Given the description of an element on the screen output the (x, y) to click on. 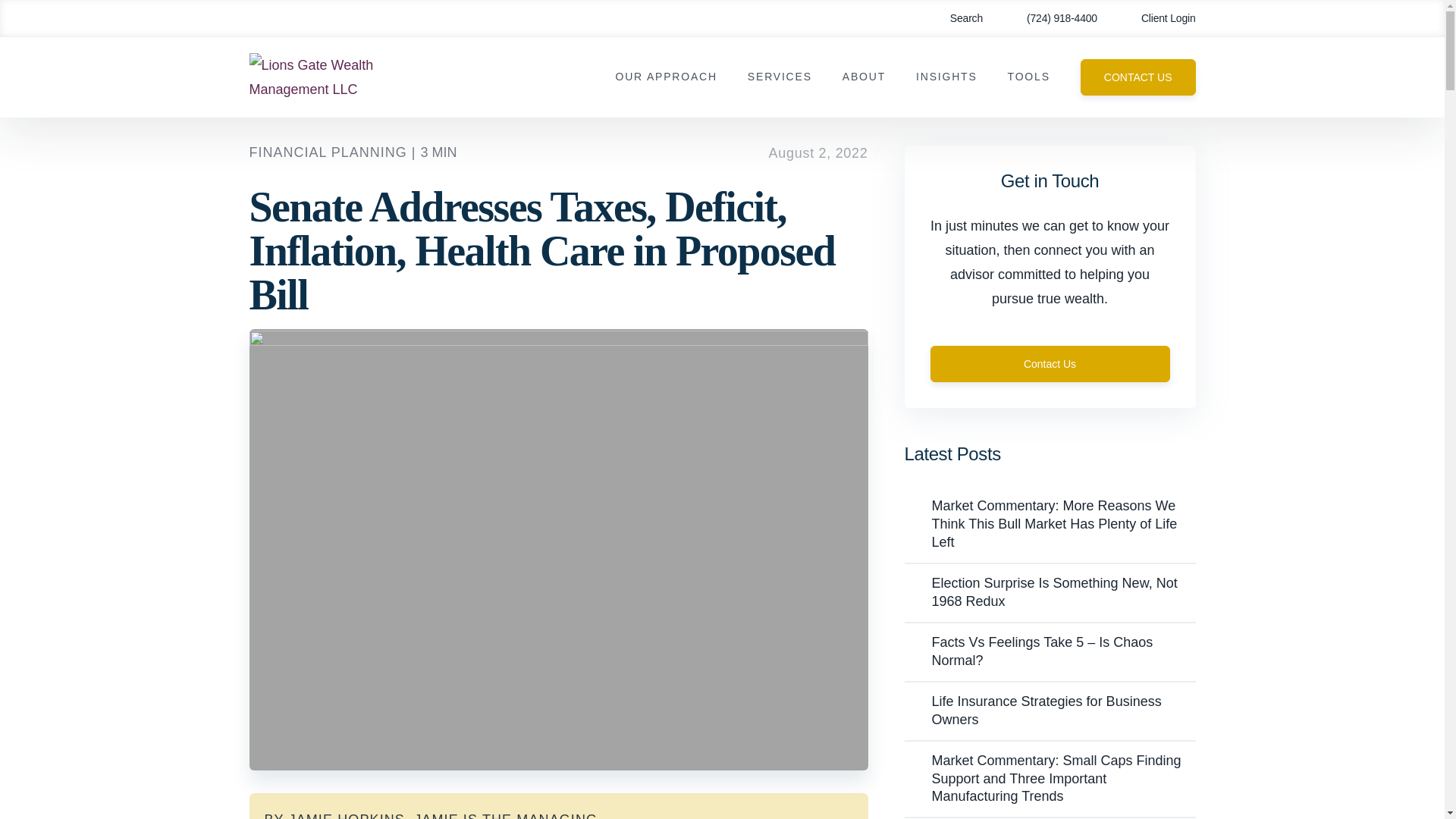
Client Login (1157, 18)
CONTACT US (1137, 76)
INSIGHTS (945, 77)
ABOUT (864, 77)
TOOLS (1028, 77)
Search (955, 18)
SERVICES (780, 77)
OUR APPROACH (665, 77)
